Given the description of an element on the screen output the (x, y) to click on. 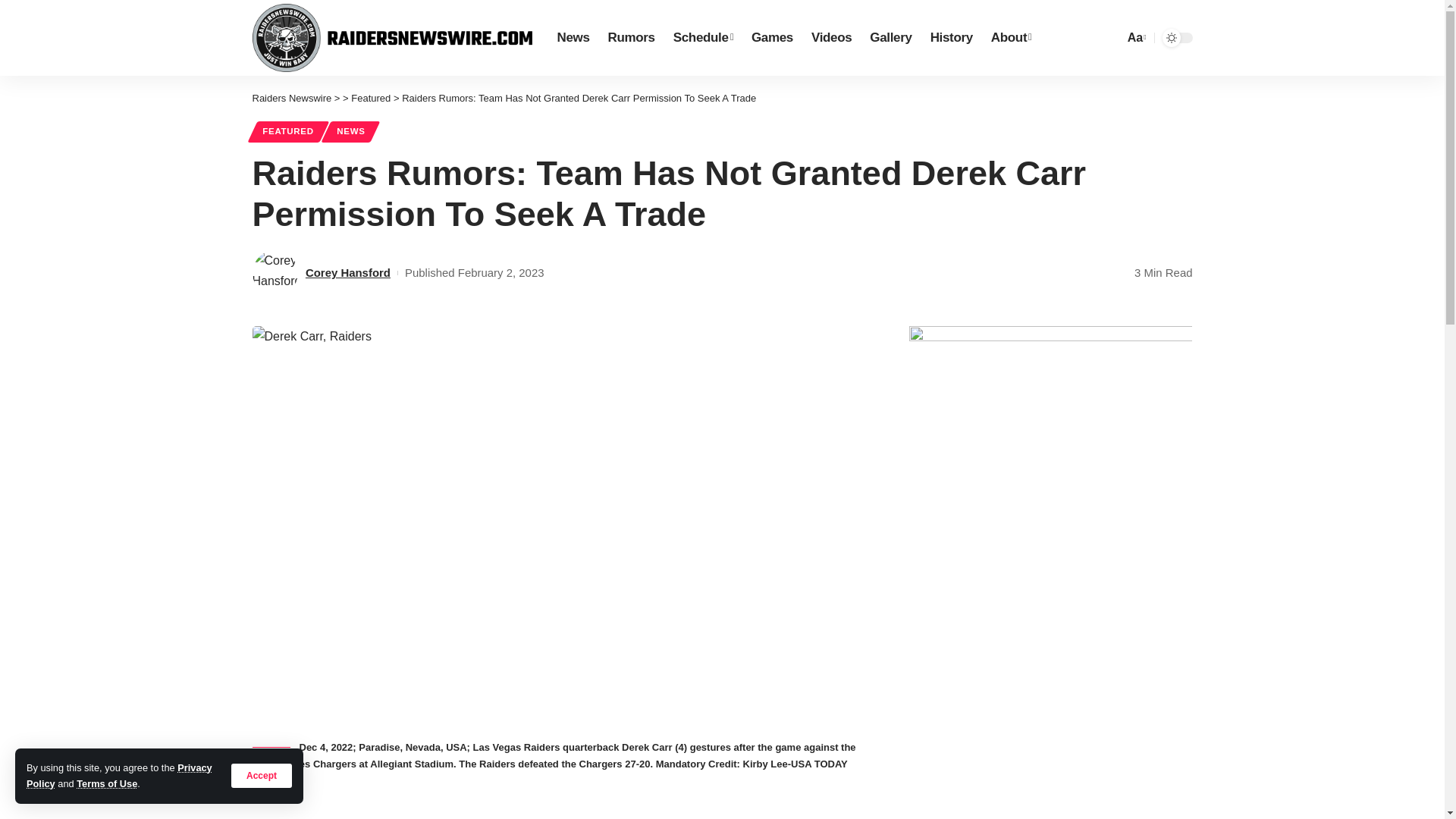
Rumors (630, 38)
History (951, 38)
Schedule (702, 38)
Raiders Newswire (391, 38)
Go to the Featured Category archives. (370, 98)
Aa (1135, 37)
Go to Raiders Newswire. (291, 98)
Accept (261, 775)
Privacy Policy (119, 775)
Terms of Use (106, 783)
